Given the description of an element on the screen output the (x, y) to click on. 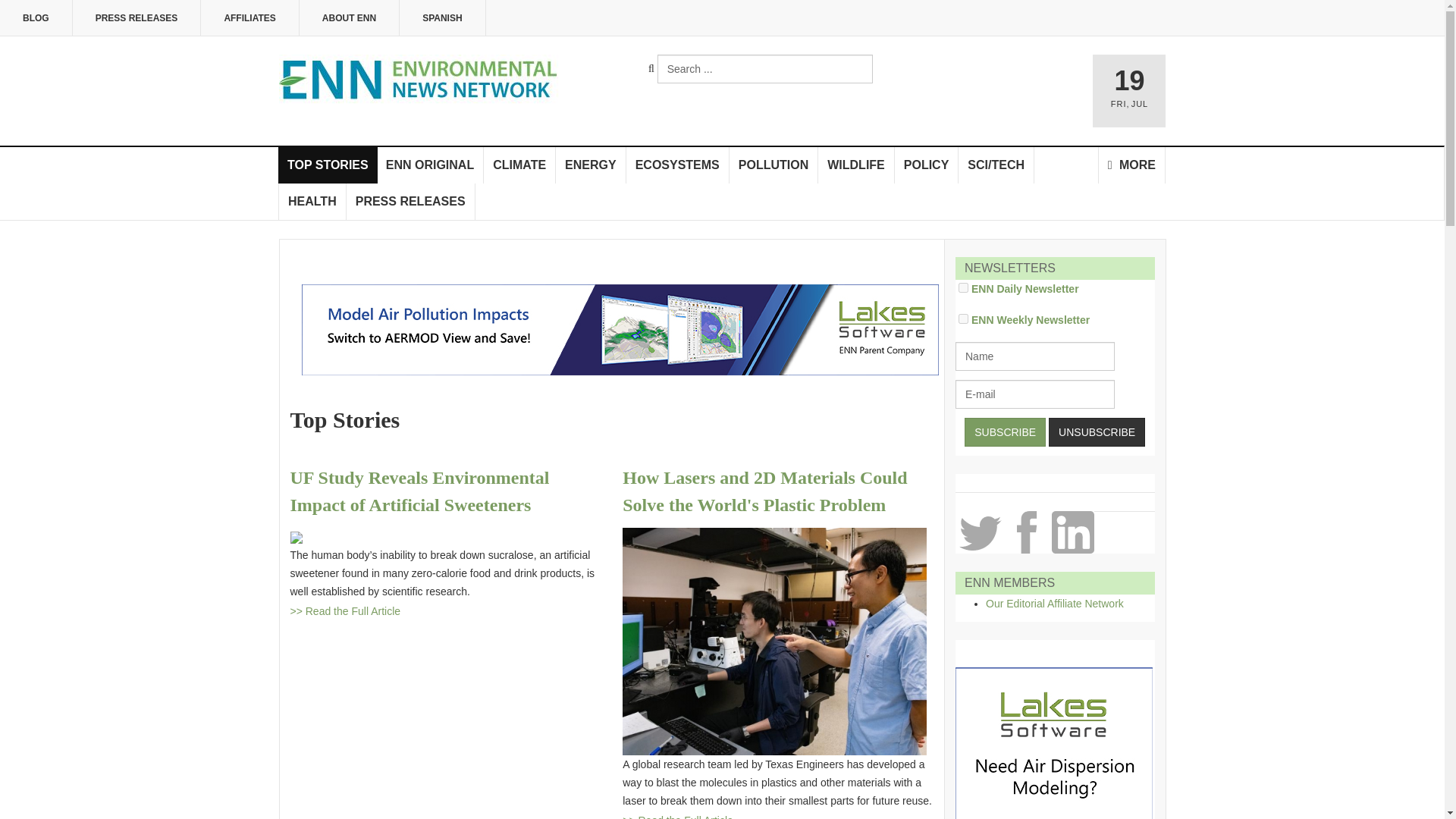
ABOUT ENN (348, 18)
ENN ORIGINAL (430, 165)
Search ... (765, 68)
TOP STORIES (327, 165)
POLLUTION (773, 165)
SPANISH (441, 18)
CLIMATE (519, 165)
2 (963, 287)
E-mail (1035, 394)
AFFILIATES (249, 18)
WILDLIFE (856, 165)
PRESS RELEASES (137, 18)
ENERGY (591, 165)
Search ... (765, 68)
Name (1035, 356)
